Given the description of an element on the screen output the (x, y) to click on. 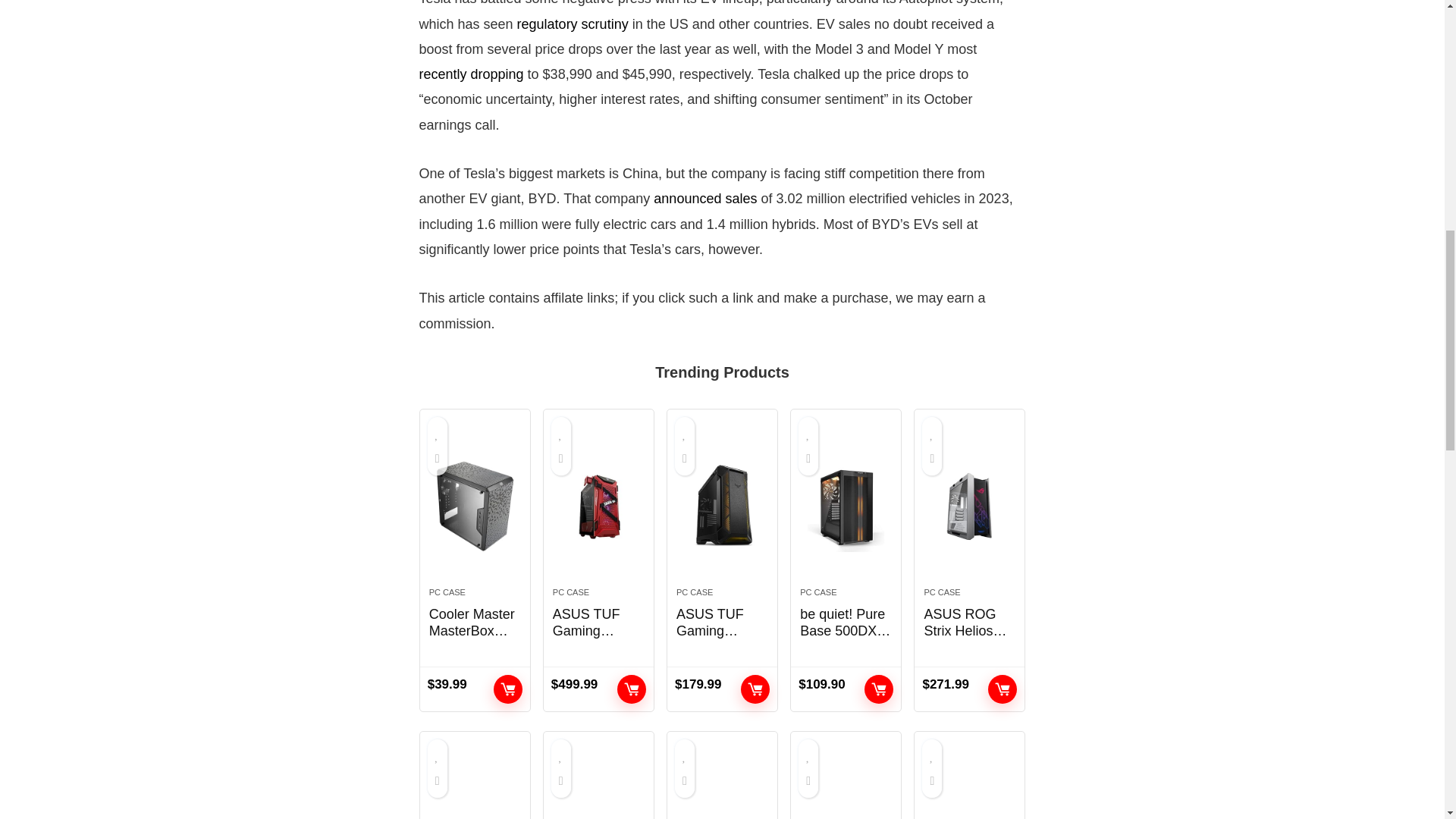
CORSAIR 7000D AIRFLOW Full-Tower ATX PC Case, Black (599, 789)
